Given the description of an element on the screen output the (x, y) to click on. 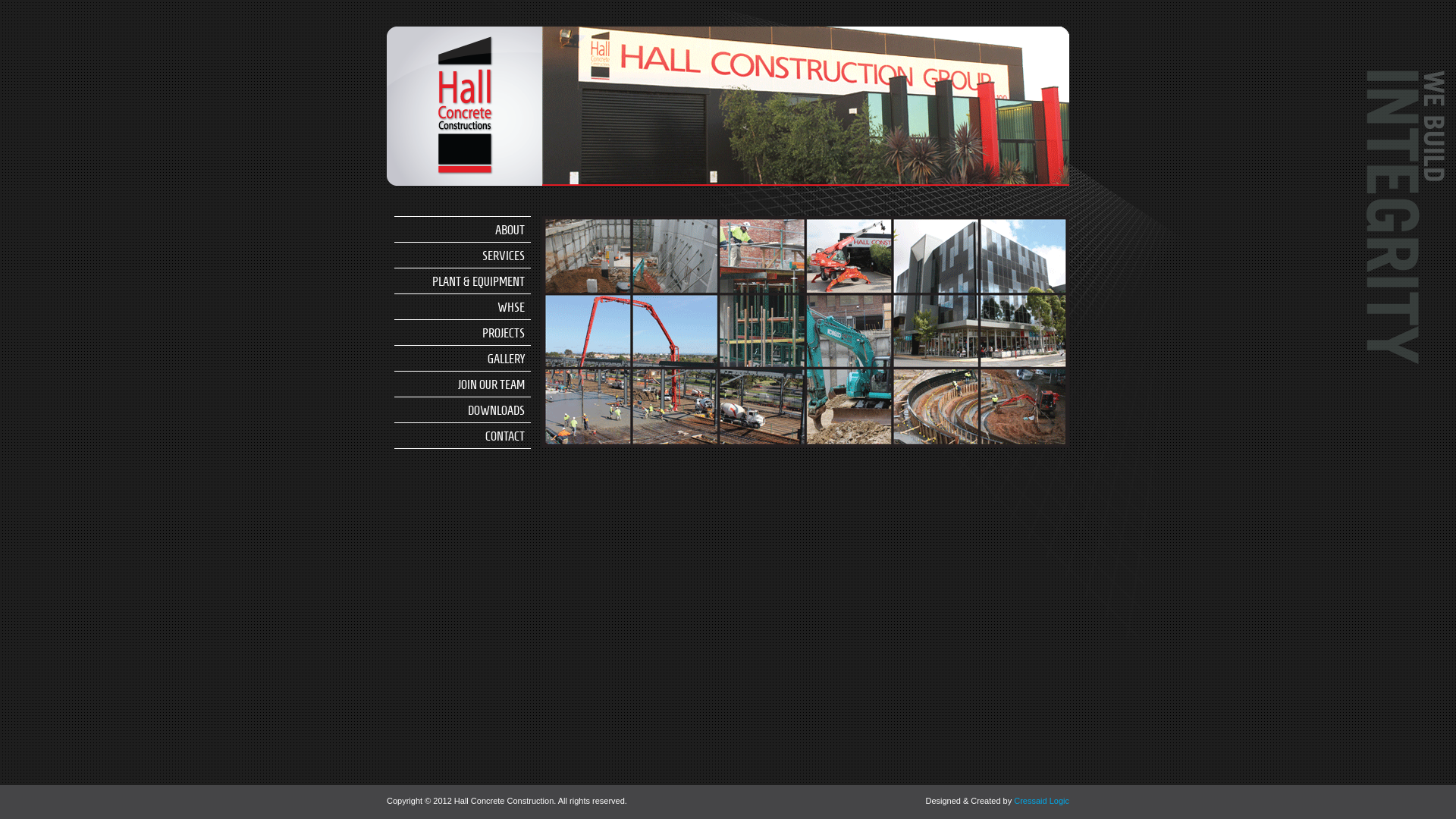
PLANT & EQUIPMENT Element type: text (462, 280)
WHSE Element type: text (462, 306)
JOIN OUR TEAM Element type: text (462, 383)
PROJECTS Element type: text (462, 332)
SERVICES Element type: text (462, 254)
ABOUT Element type: text (462, 228)
CONTACT Element type: text (462, 435)
Cressaid Logic Element type: text (1041, 800)
GALLERY Element type: text (462, 357)
DOWNLOADS Element type: text (462, 409)
